Given the description of an element on the screen output the (x, y) to click on. 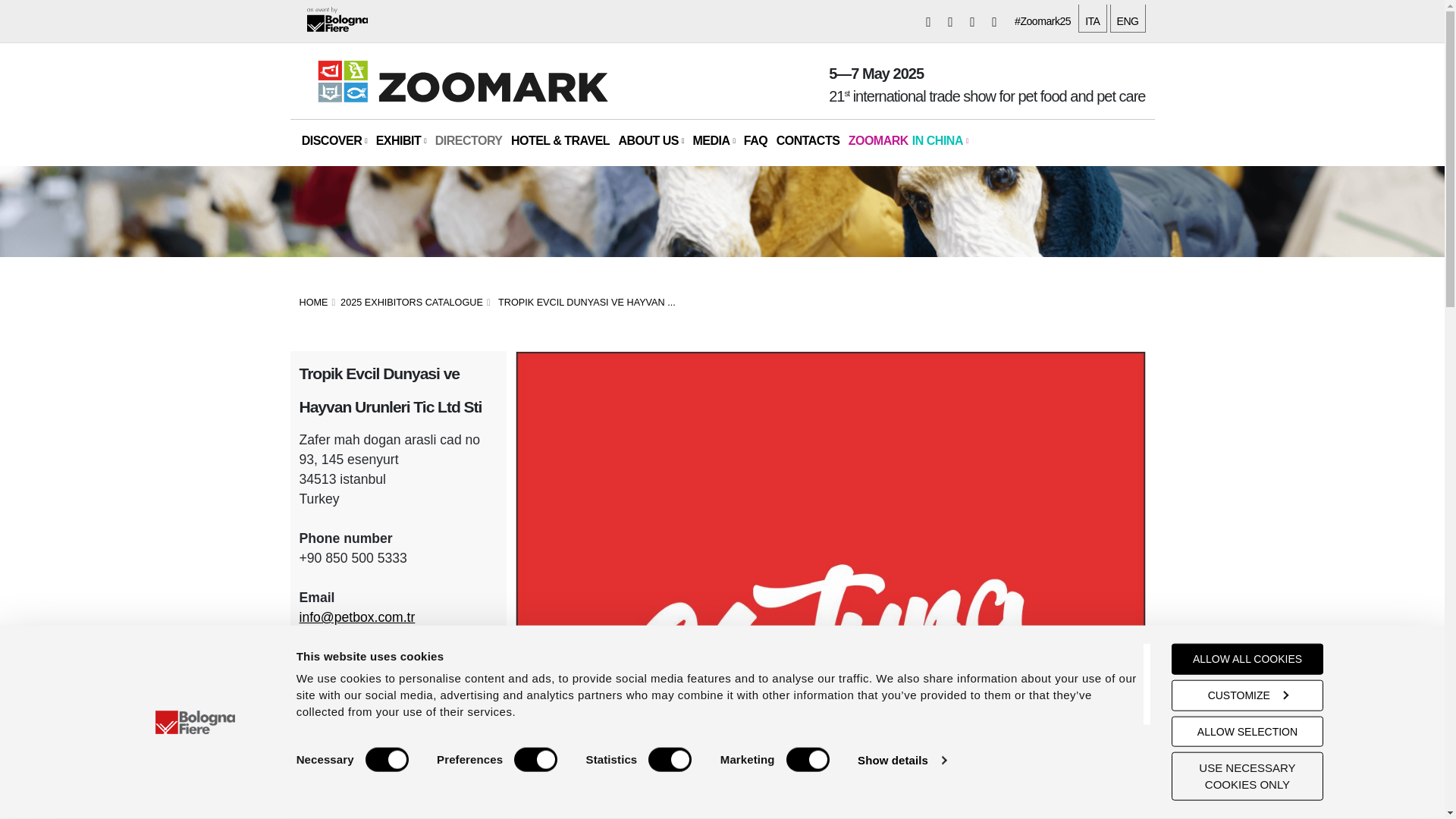
Show details (900, 759)
